Given the description of an element on the screen output the (x, y) to click on. 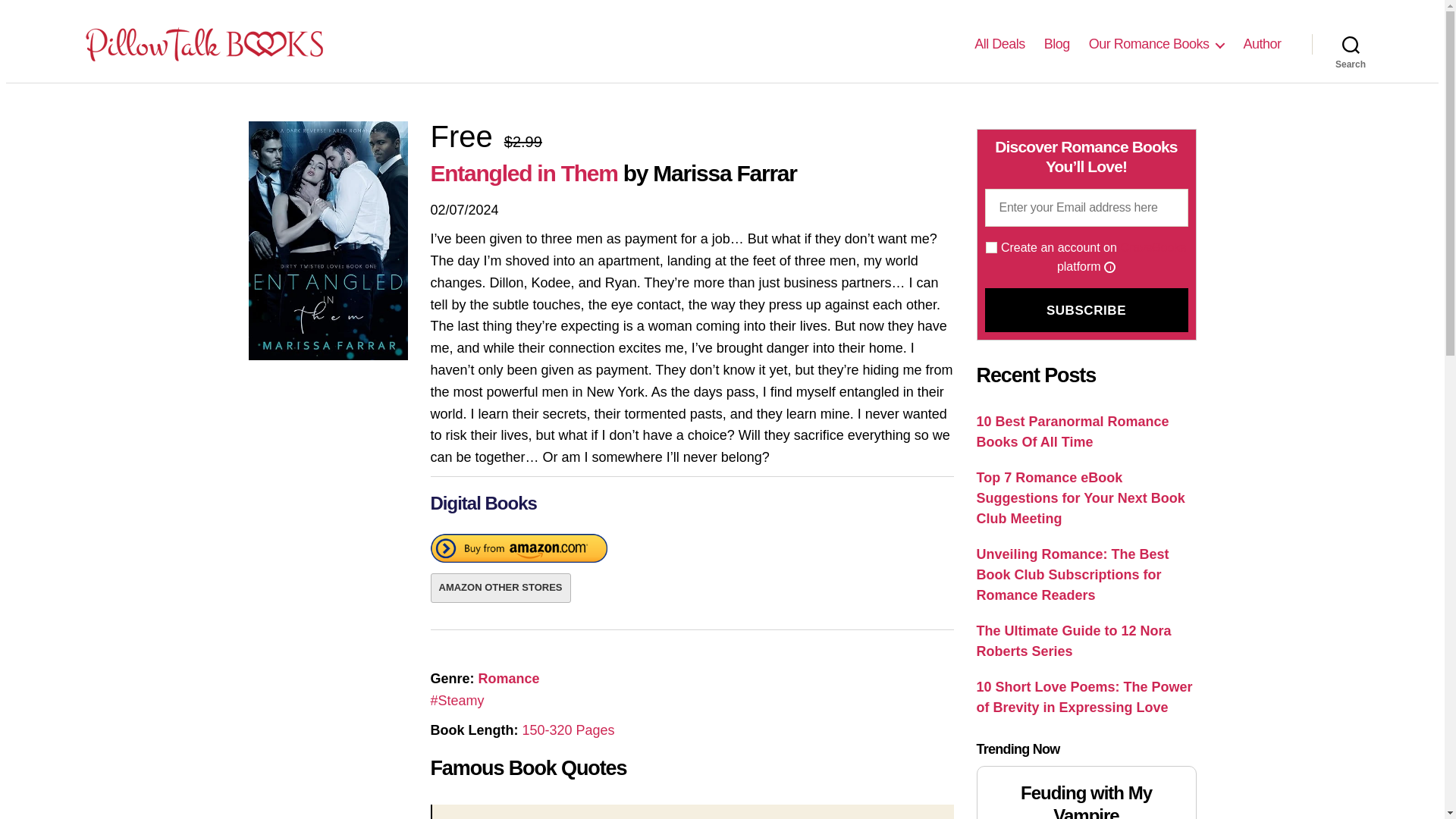
true (991, 247)
Search (1350, 43)
Subscribe (1086, 310)
Our Romance Books (1156, 44)
Author (1262, 44)
Amazon (518, 551)
Blog (1056, 44)
All Deals (999, 44)
